Given the description of an element on the screen output the (x, y) to click on. 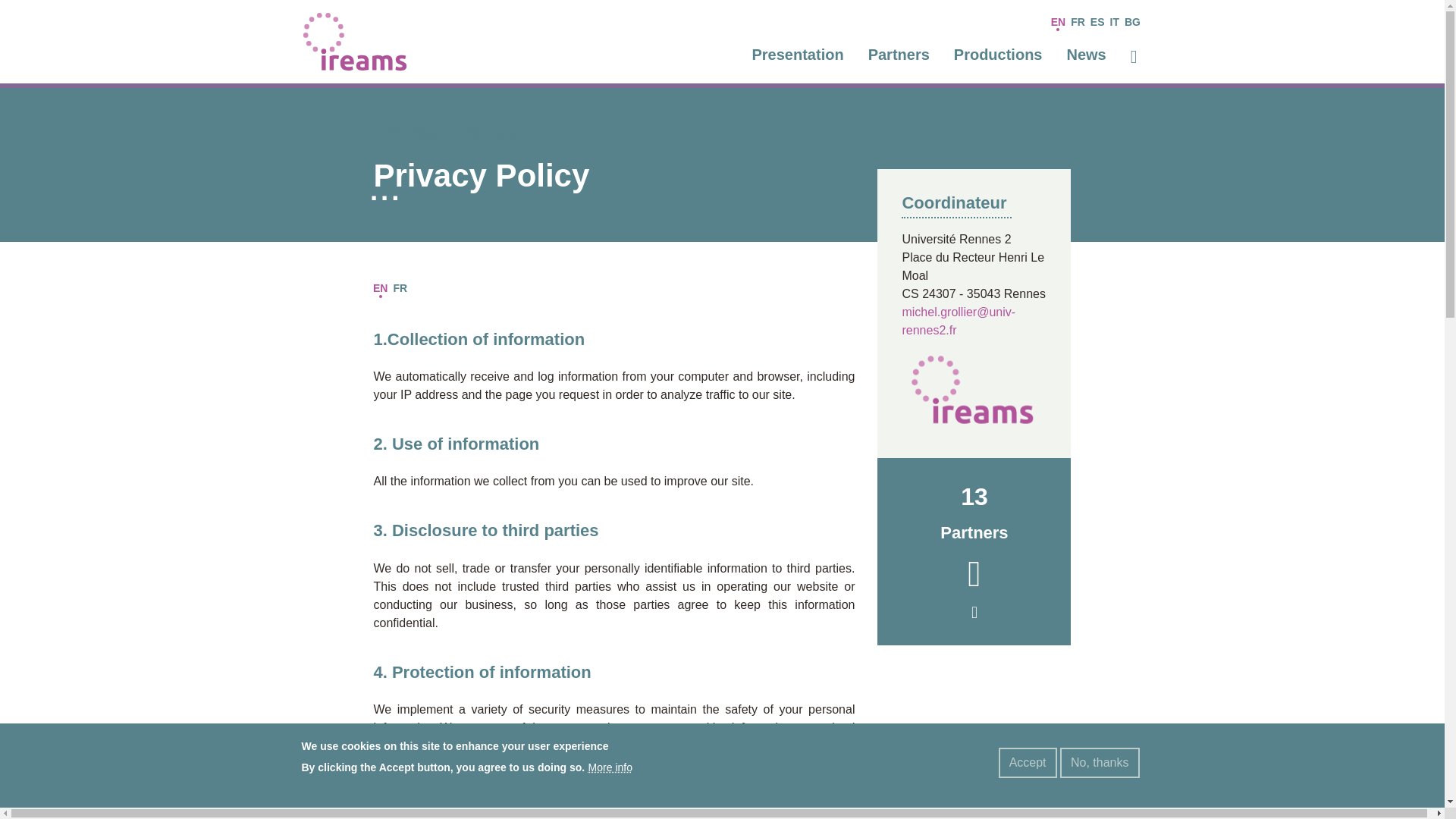
FR (400, 288)
FR (1077, 21)
BG (1132, 21)
News (1085, 54)
Presentation (797, 54)
Partners (898, 54)
EN (1057, 21)
Read more (973, 551)
Home (355, 40)
ES (973, 551)
Productions (1096, 21)
EN (997, 54)
